Given the description of an element on the screen output the (x, y) to click on. 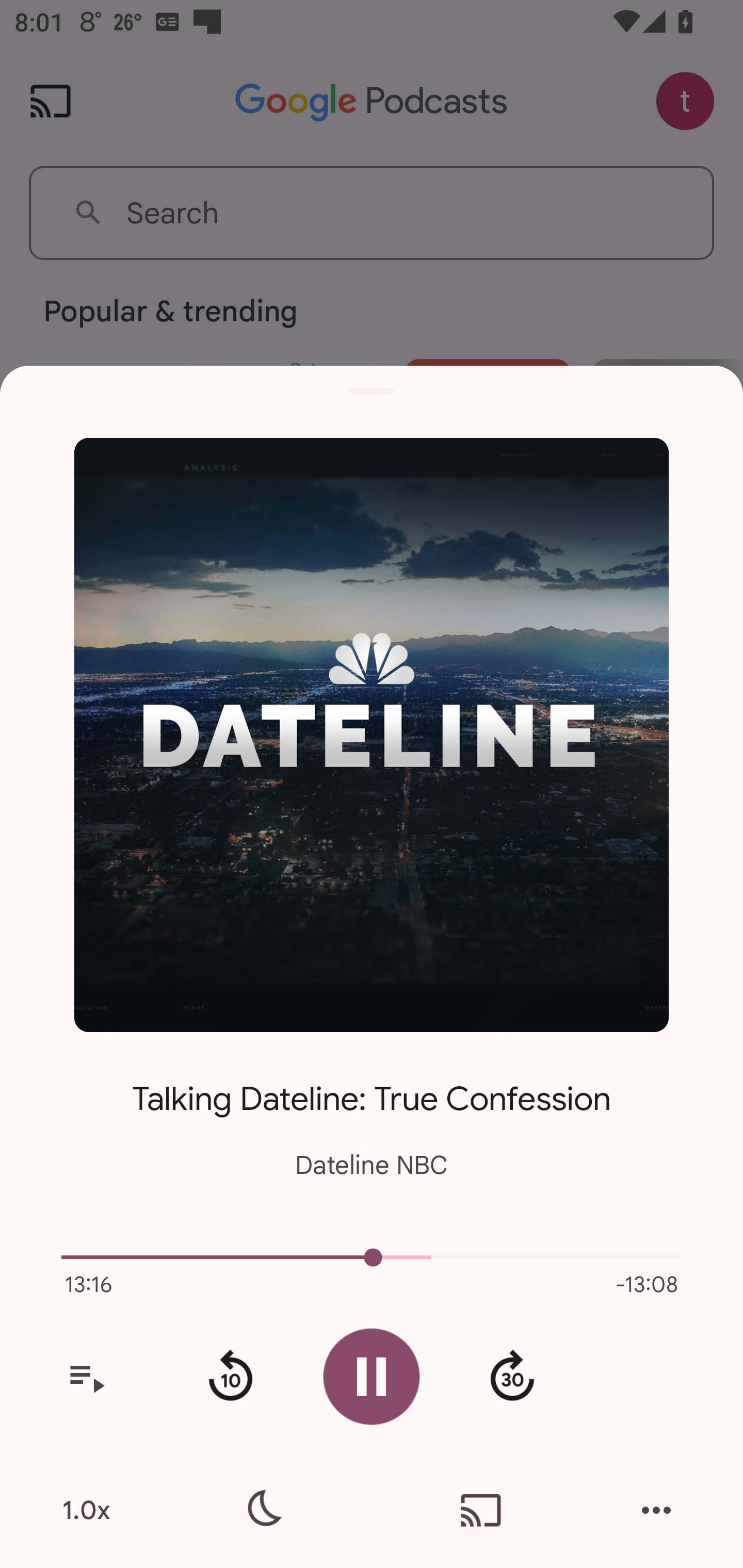
Open the show page for Dateline NBC (371, 734)
Talking Dateline: True Confession Dateline NBC (371, 1115)
5025.0 Current episode playback (371, 1257)
Pause (371, 1376)
View your queue (86, 1376)
Rewind 10 seconds (230, 1376)
Fast forward 30 second (511, 1376)
1.0x Playback speed is 1.0. (86, 1510)
Sleep timer settings (261, 1510)
Cast. Disconnected (480, 1510)
More actions (655, 1510)
